Given the description of an element on the screen output the (x, y) to click on. 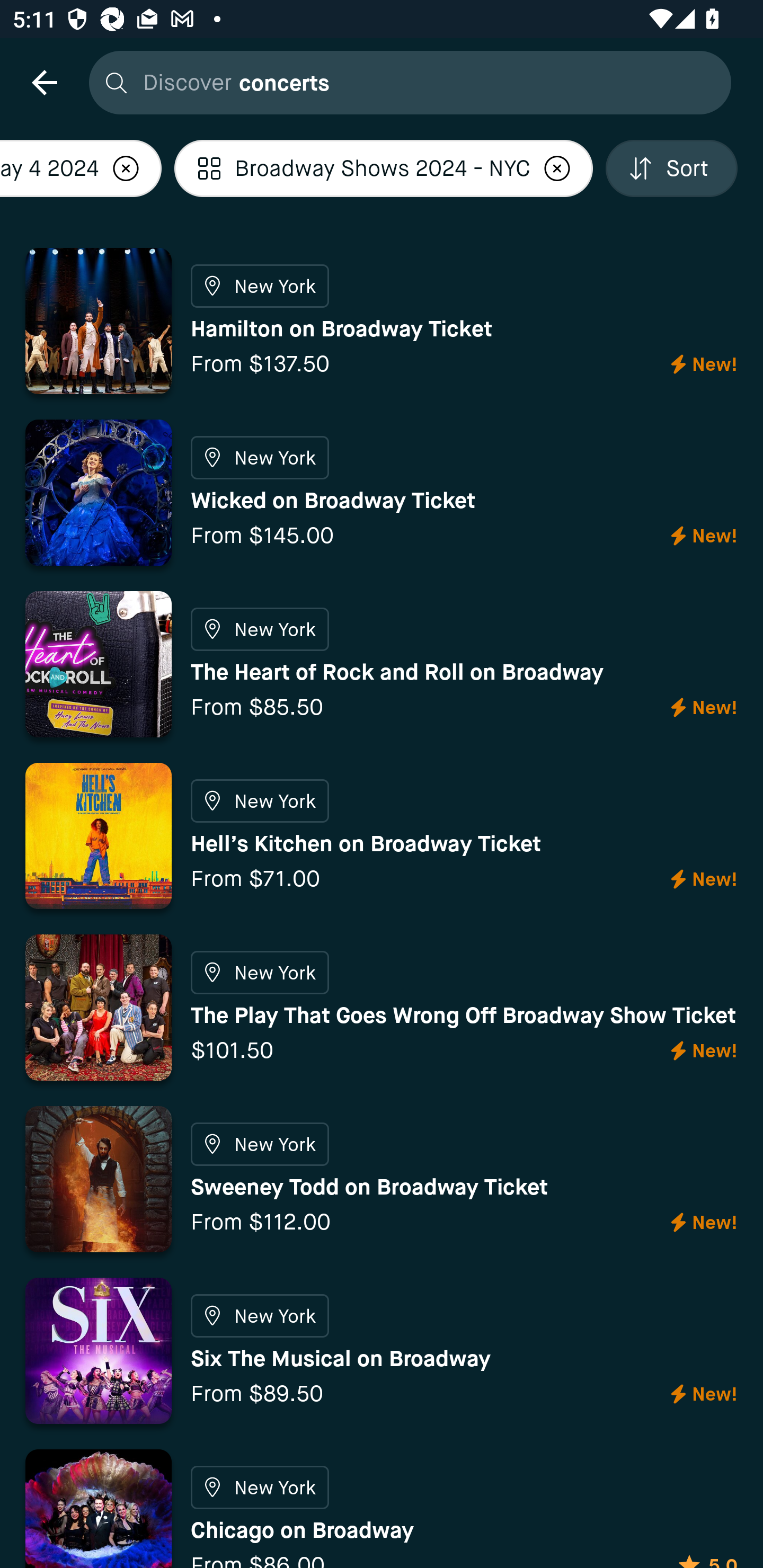
navigation icon (44, 81)
Discover concerts (405, 81)
Apr 28 2024 - May 4 2024 Localized description (80, 168)
Localized description (125, 168)
Localized description (557, 168)
Localized description Sort (671, 168)
